Given the description of an element on the screen output the (x, y) to click on. 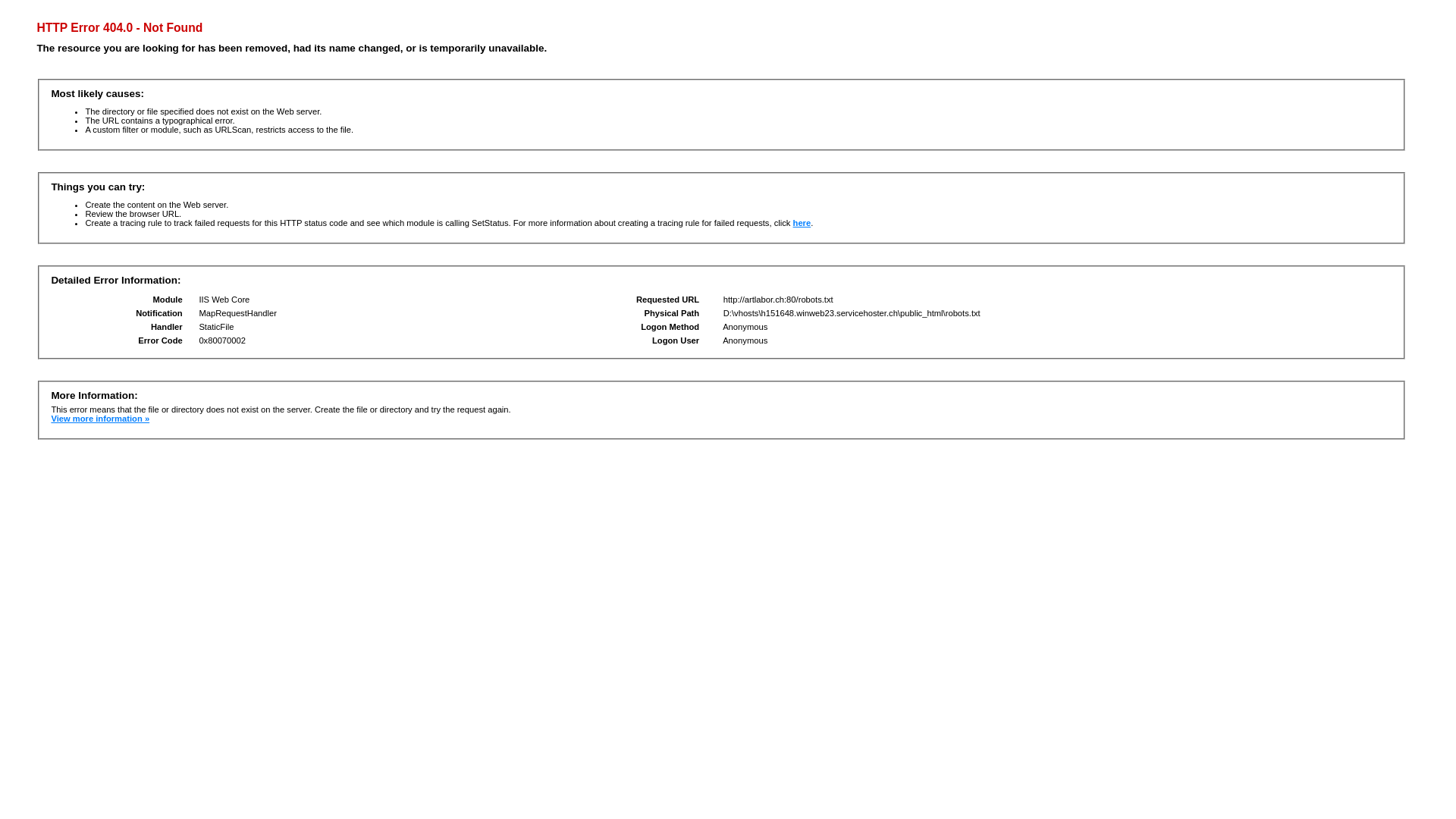
here Element type: text (802, 222)
